Given the description of an element on the screen output the (x, y) to click on. 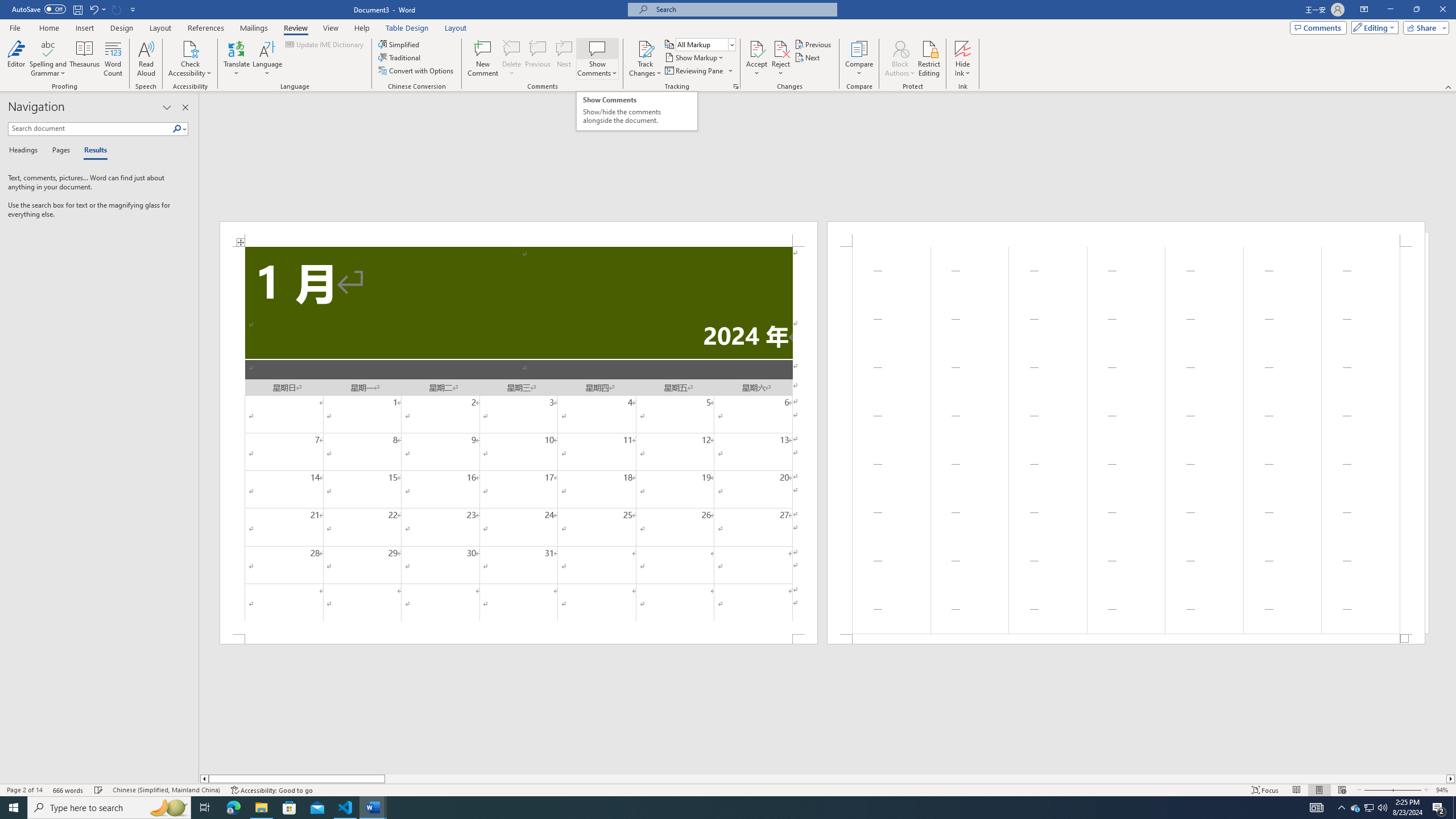
Update IME Dictionary... (324, 44)
Page Number Page 2 of 14 (24, 790)
Block Authors (900, 58)
Hide Ink (962, 58)
Reviewing Pane (694, 69)
